Given the description of an element on the screen output the (x, y) to click on. 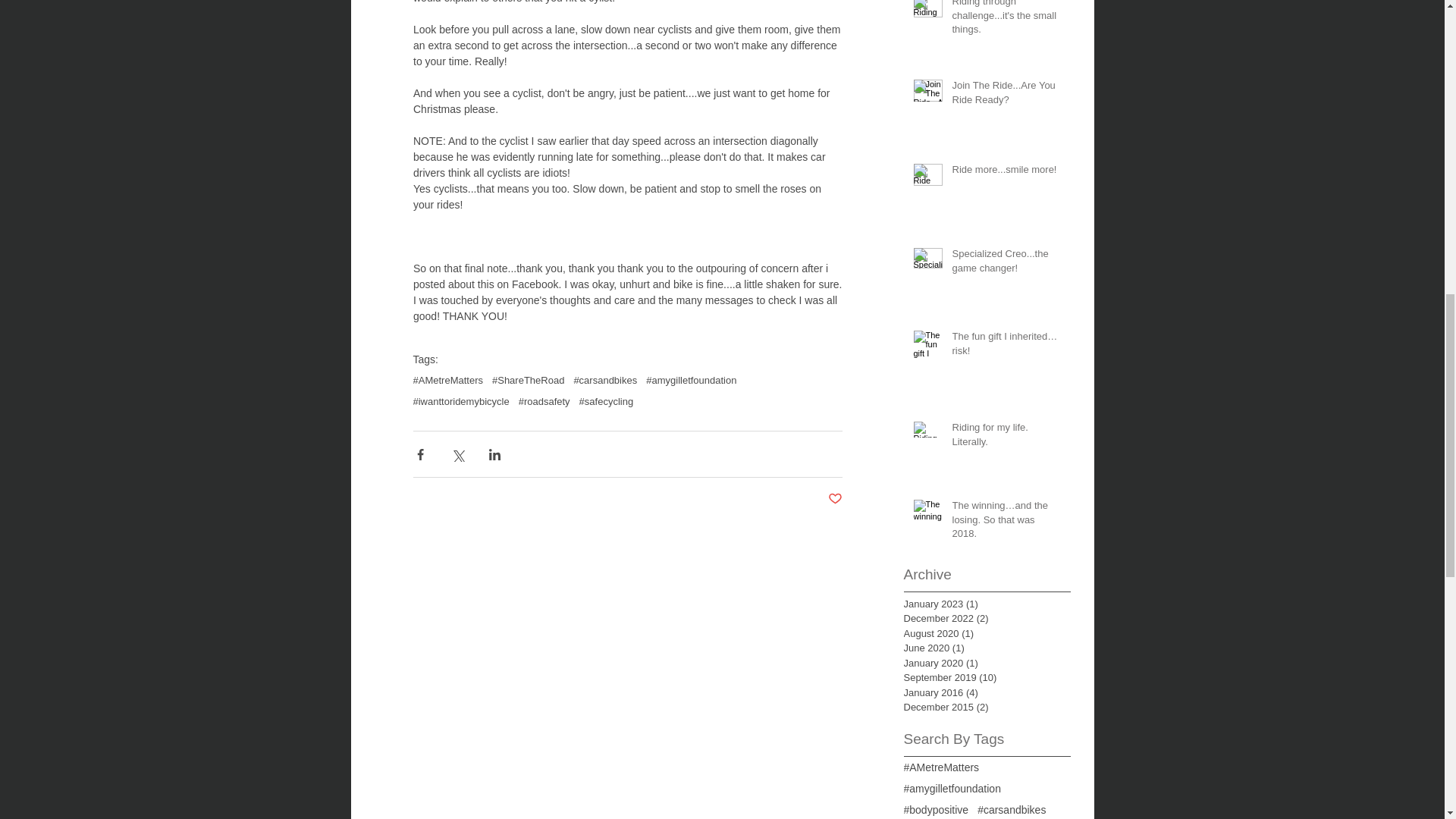
Riding for my life. Literally. (1006, 437)
Ride more...smile more! (1006, 172)
Riding through challenge...it's the small things. (1006, 21)
Post not marked as liked (835, 498)
Join The Ride...Are You Ride Ready? (1006, 95)
Specialized Creo...the game changer! (1006, 263)
